Given the description of an element on the screen output the (x, y) to click on. 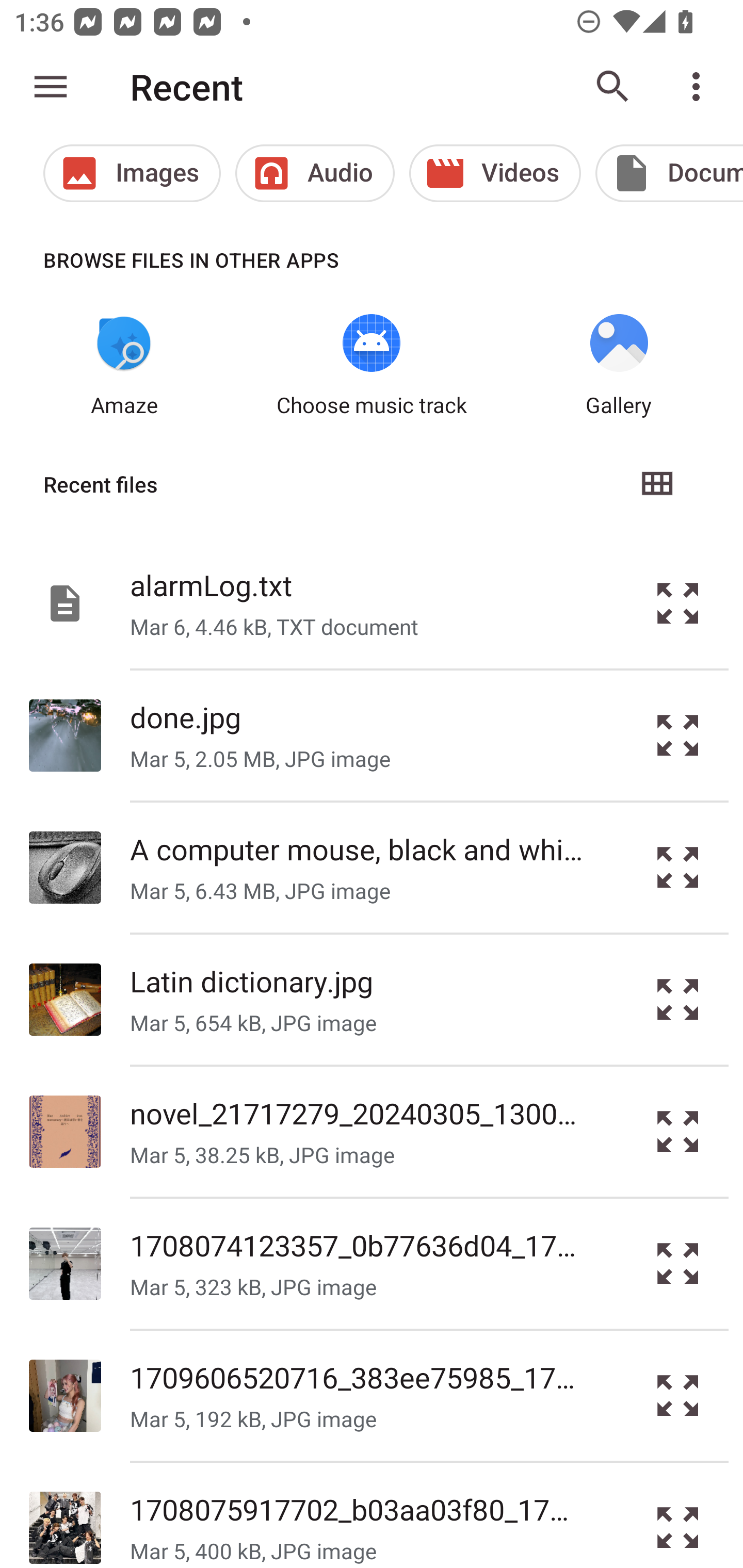
Show roots (50, 86)
Search (612, 86)
More options (699, 86)
Images (131, 173)
Audio (314, 173)
Videos (495, 173)
Documents (669, 173)
Amaze (123, 365)
Choose music track (371, 365)
Gallery (619, 365)
Grid view (655, 484)
Preview the file alarmLog.txt (677, 602)
Preview the file done.jpg (677, 736)
Preview the file Latin dictionary.jpg (677, 999)
